Given the description of an element on the screen output the (x, y) to click on. 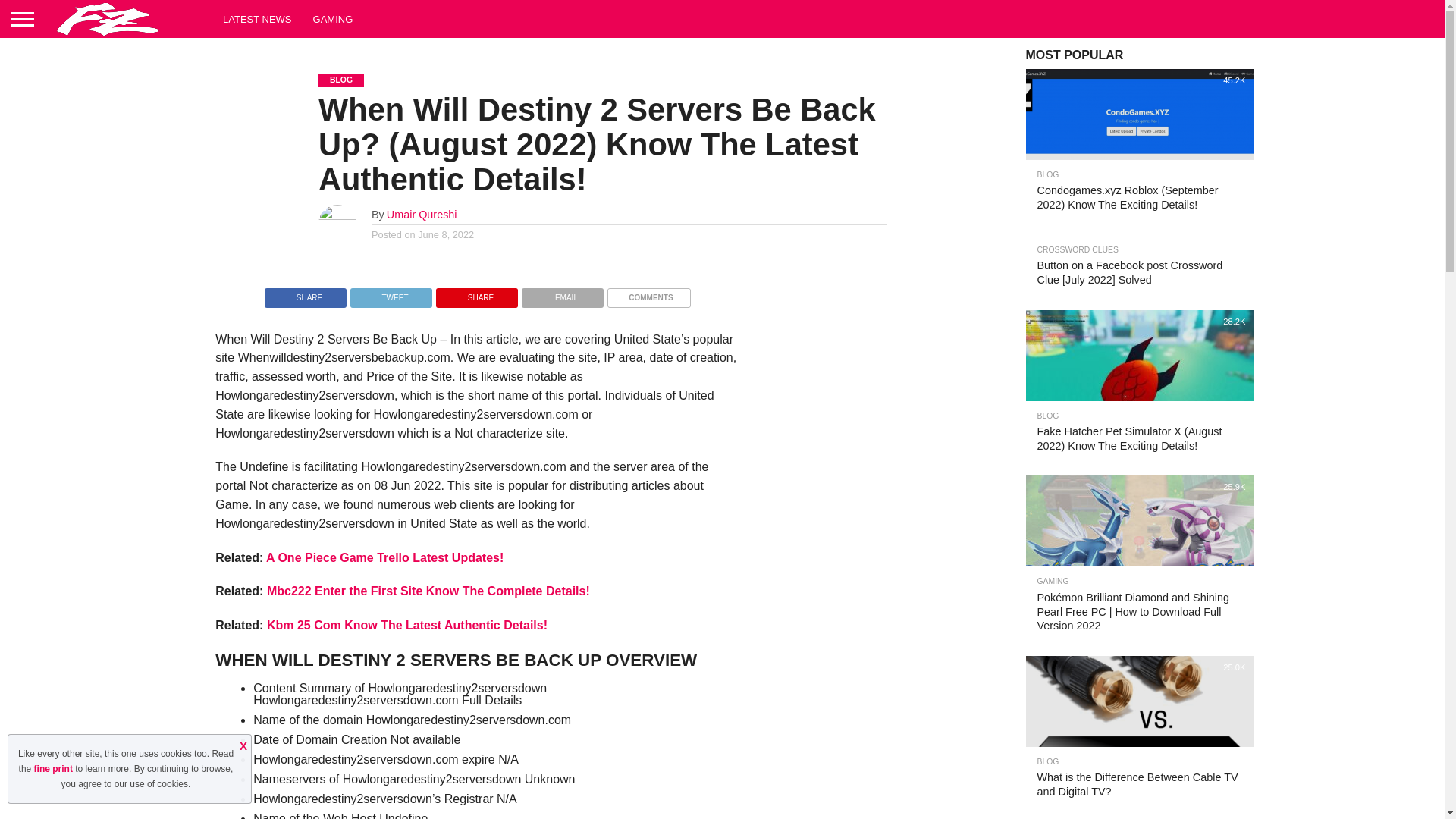
COMMENTS (648, 293)
SHARE (305, 293)
SHARE (476, 293)
Umair Qureshi (422, 214)
LATEST NEWS (257, 18)
Kbm 25 Com Know The Latest Authentic Details! (406, 625)
Tweet This Post (390, 293)
Mbc222 Enter the First Site Know The Complete Details! (427, 590)
Share on Facebook (305, 293)
Pin This Post (476, 293)
Posts by Umair Qureshi (422, 214)
A One Piece Game Trello Latest Updates! (384, 557)
GAMING (333, 18)
EMAIL (562, 293)
TWEET (390, 293)
